Given the description of an element on the screen output the (x, y) to click on. 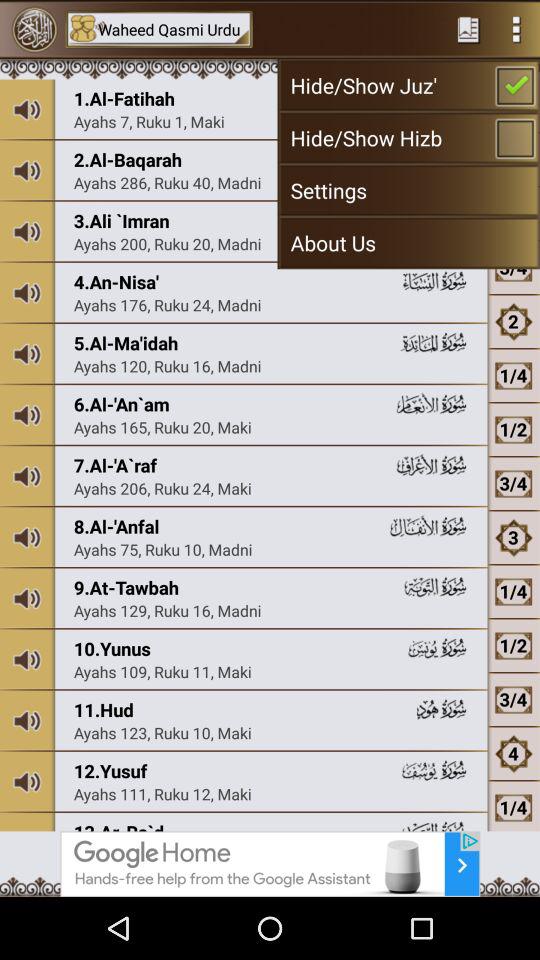
toggle autoplay option (516, 29)
